Given the description of an element on the screen output the (x, y) to click on. 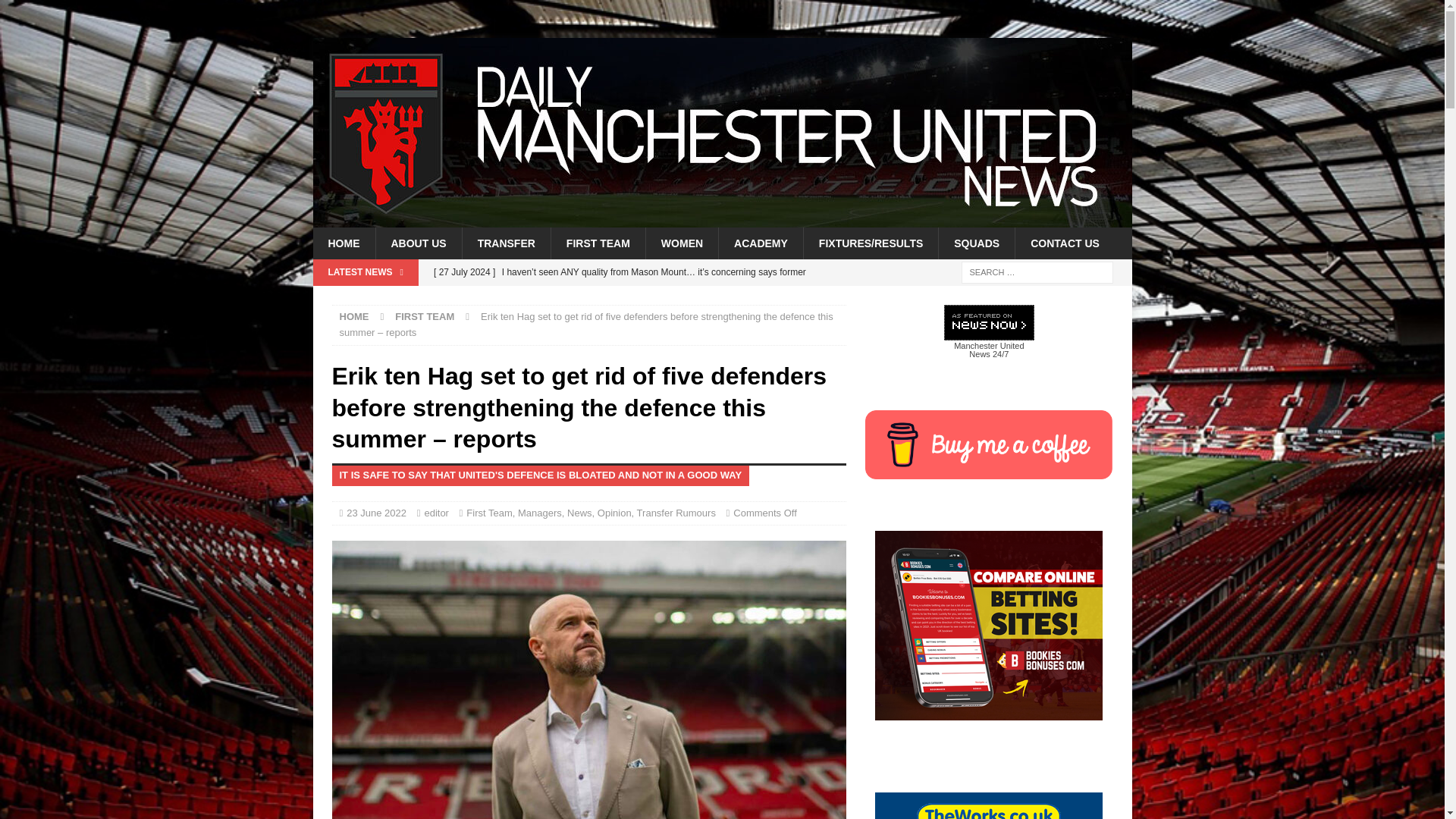
ABOUT US (417, 243)
HOME (343, 243)
SQUADS (975, 243)
WOMEN (681, 243)
FIRST TEAM (597, 243)
News (579, 512)
Transfer Rumours (676, 512)
Search (56, 11)
23 June 2022 (376, 512)
HOME (354, 316)
editor (435, 512)
First Team (488, 512)
FIRST TEAM (424, 316)
Managers (540, 512)
MUFCLatest.com (722, 218)
